Given the description of an element on the screen output the (x, y) to click on. 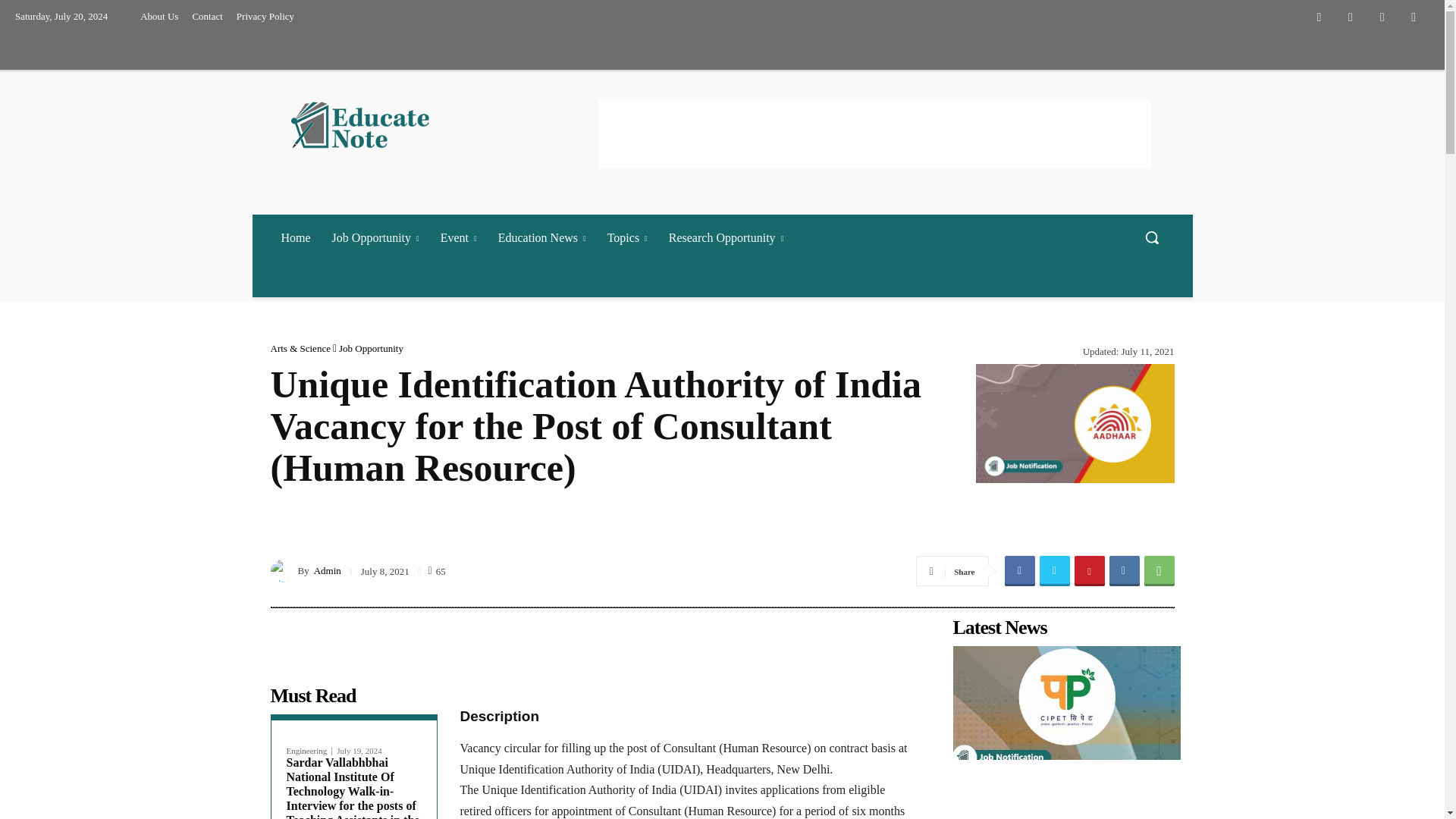
Advertisement (874, 133)
Facebook (1319, 17)
Privacy Policy (265, 16)
Home (294, 236)
Instagram (1351, 17)
Youtube (1413, 17)
About Us (158, 16)
Job Opportunity (375, 236)
Twitter (1382, 17)
Contact (206, 16)
